Given the description of an element on the screen output the (x, y) to click on. 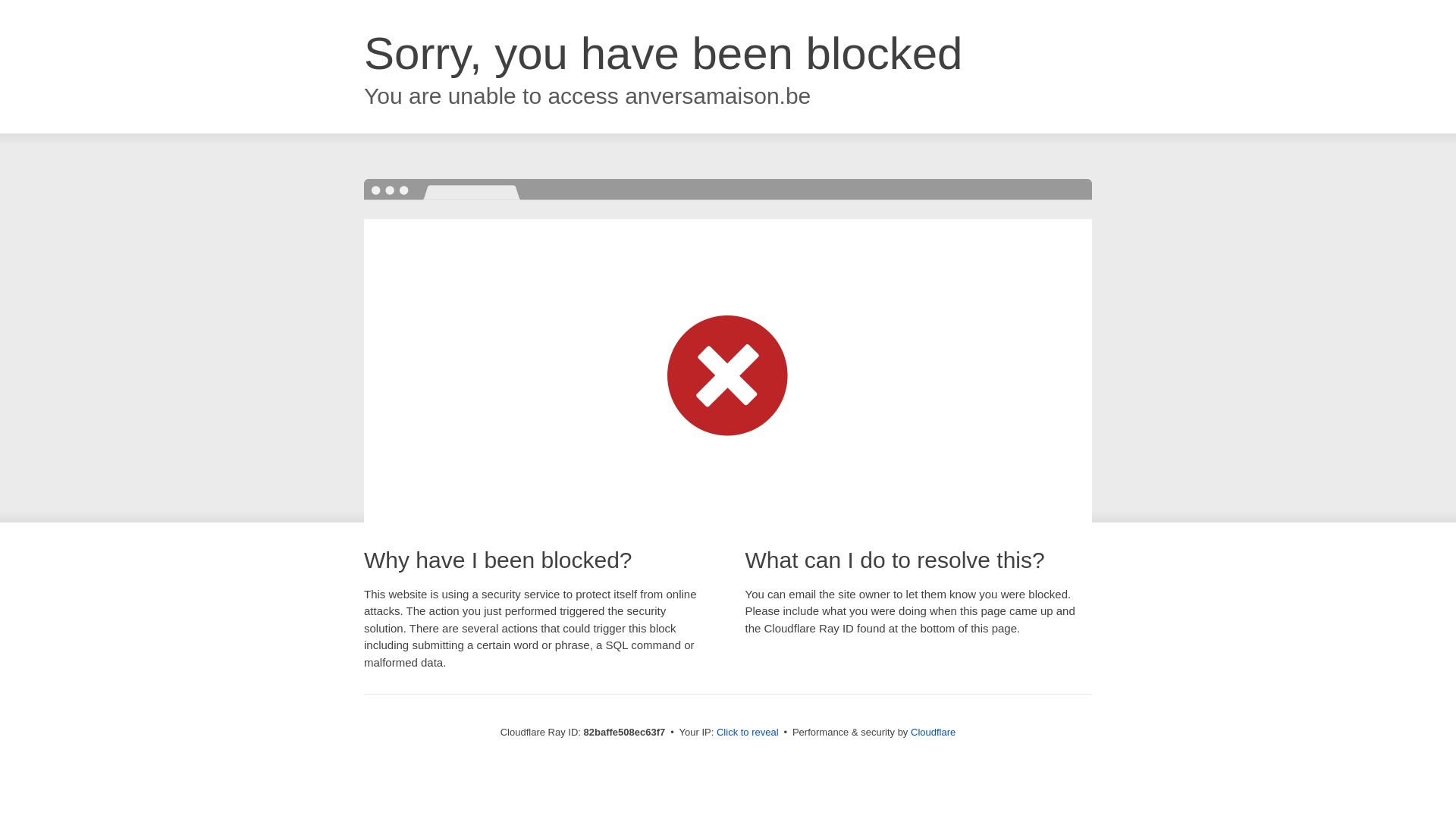
Cloudflare Element type: text (932, 731)
Click to reveal Element type: text (747, 732)
